Given the description of an element on the screen output the (x, y) to click on. 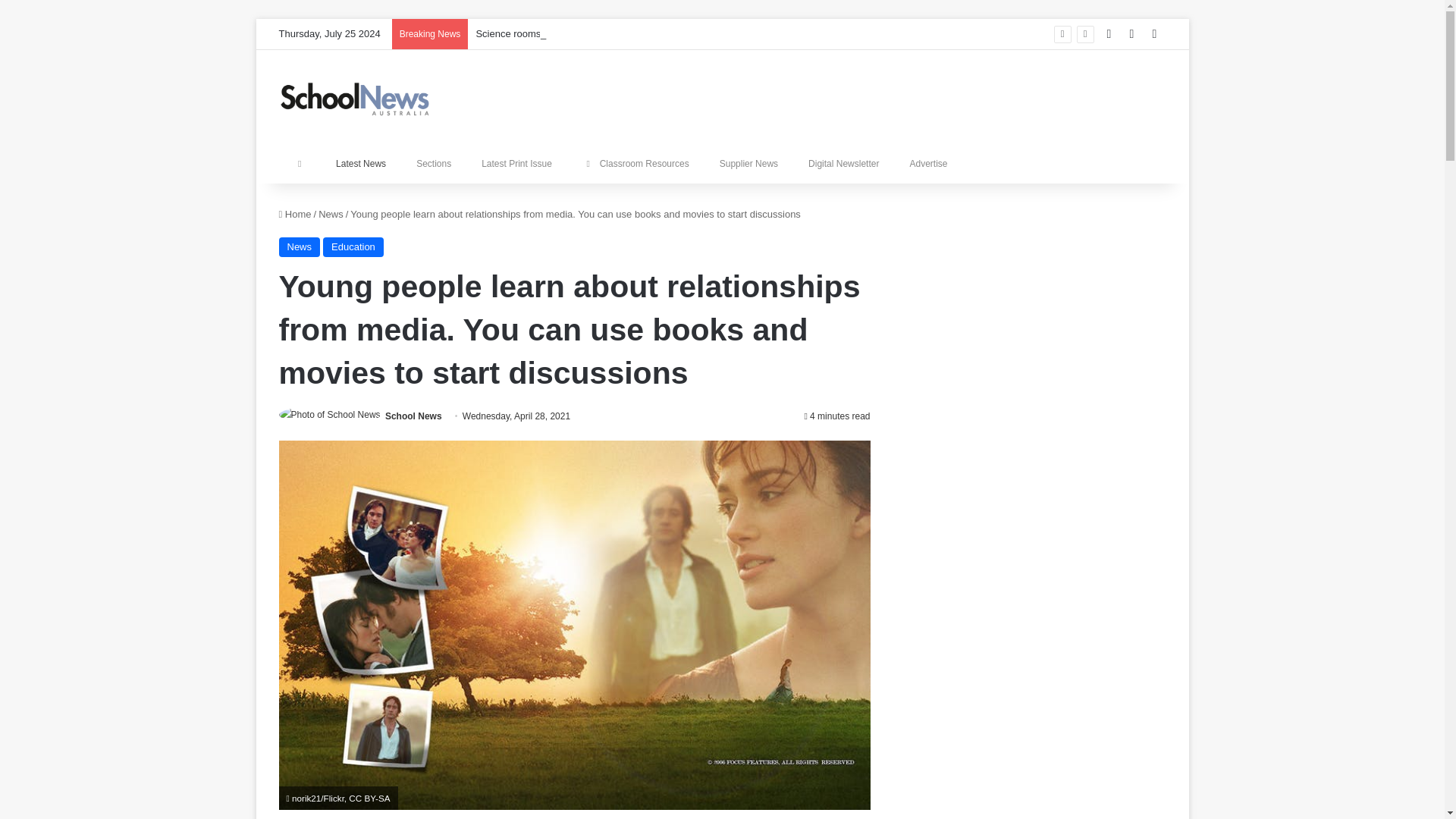
News (330, 214)
Latest News (360, 164)
3rd party ad content (1034, 522)
School News (413, 416)
Latest Print Issue (516, 164)
Sections (433, 164)
Digital Newsletter (843, 164)
Random Article (1131, 33)
News (299, 247)
Random Article (1131, 33)
Education (353, 247)
SchoolNews - Australia (354, 98)
3rd party ad content (1034, 316)
3rd party ad content (1034, 726)
